Given the description of an element on the screen output the (x, y) to click on. 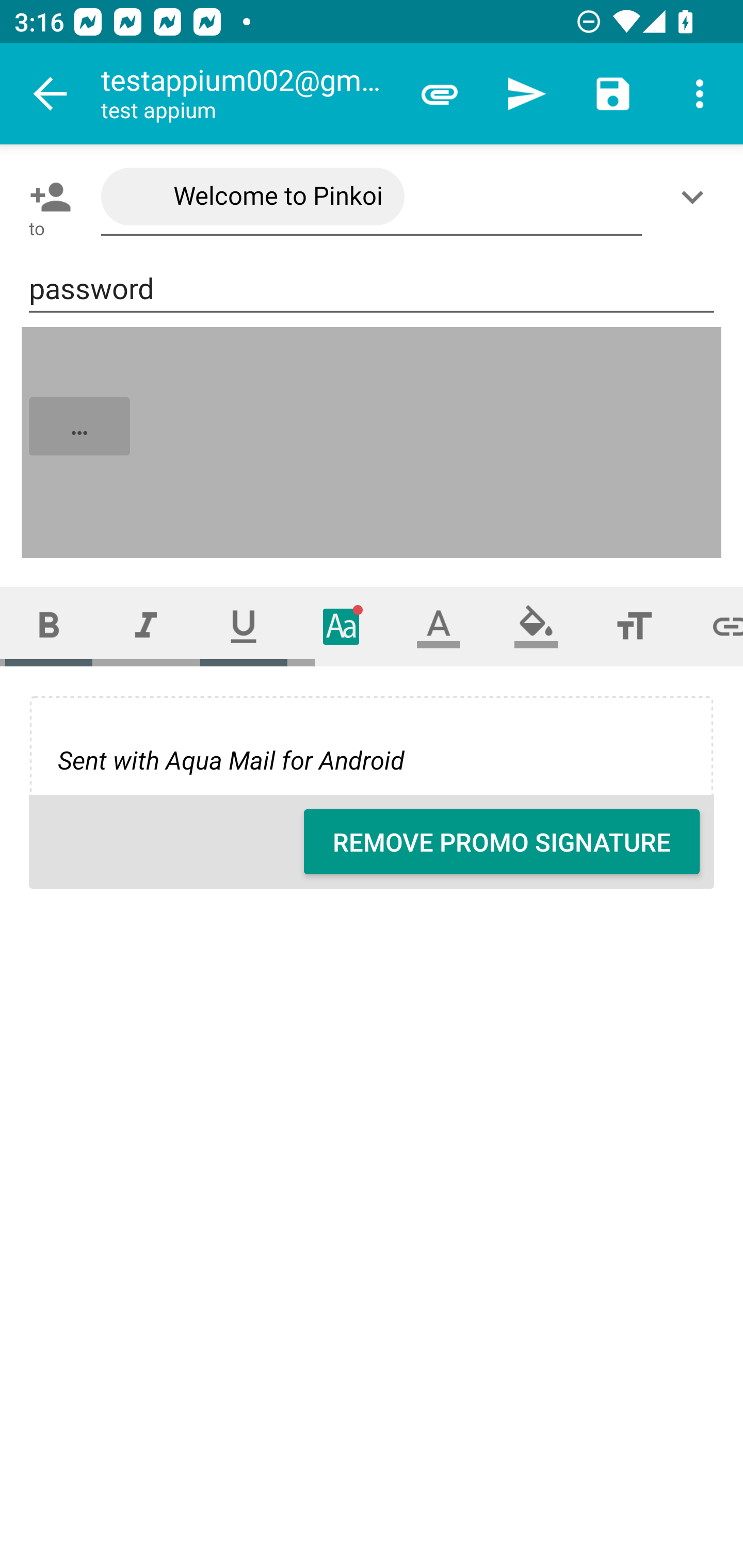
Navigate up (50, 93)
testappium002@gmail.com test appium (248, 93)
Attach (439, 93)
Send (525, 93)
Save (612, 93)
More options (699, 93)
Welcome to Pinkoi <noreply-promo@pinkoi.com>,  (371, 197)
Pick contact: To (46, 196)
Show/Add CC/BCC (696, 196)
password (371, 288)

…
 (372, 442)
Bold (48, 626)
Italic (145, 626)
Underline (243, 626)
Typeface (font) (341, 626)
Text color (438, 626)
Fill color (536, 626)
Font size (633, 626)
REMOVE PROMO SIGNATURE (501, 841)
